Given the description of an element on the screen output the (x, y) to click on. 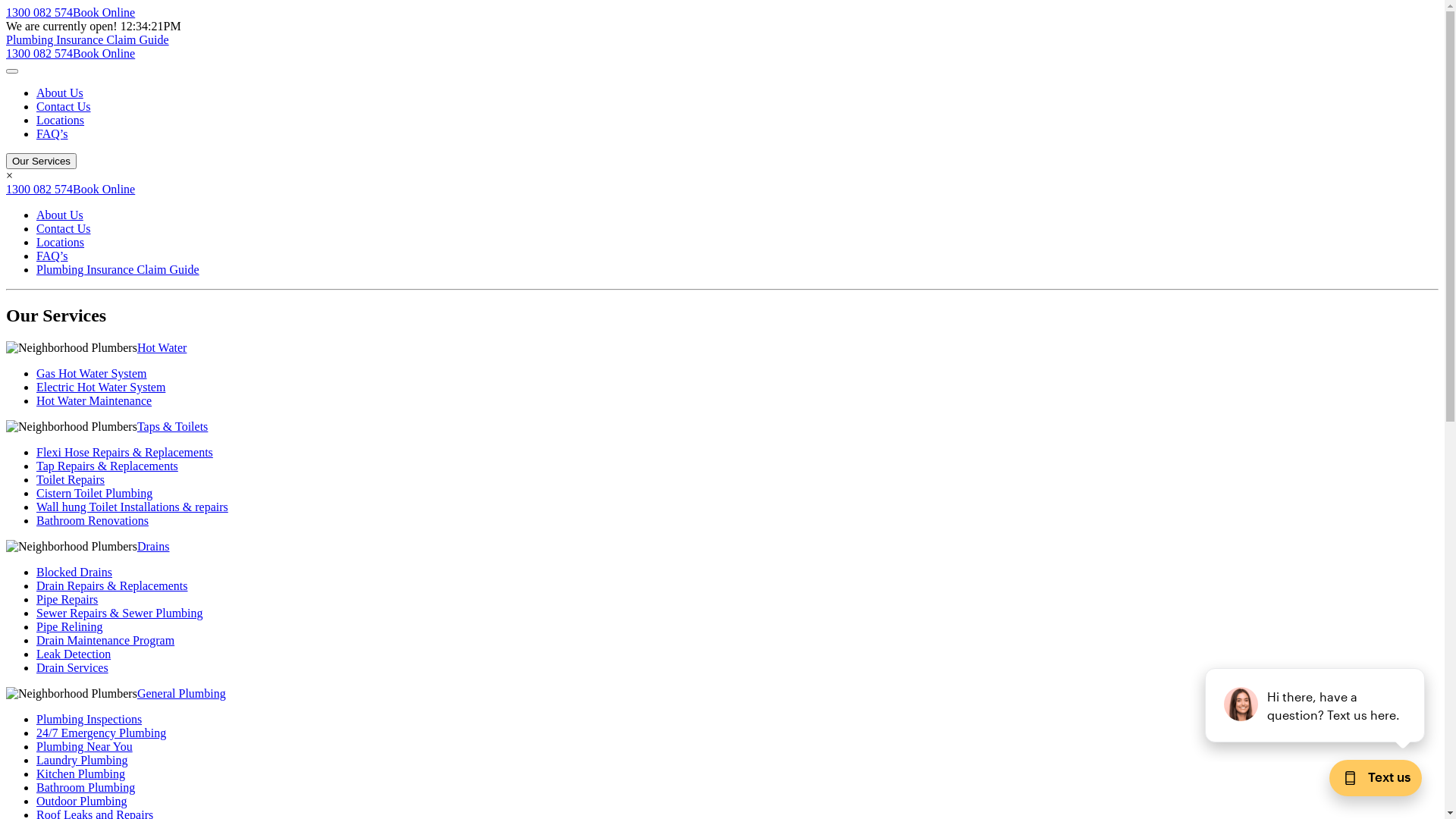
Drain Repairs & Replacements Element type: text (112, 585)
Book Online Element type: text (103, 12)
Drain Maintenance Program Element type: text (105, 639)
Hot Water Maintenance Element type: text (93, 400)
1300 082 574 Element type: text (39, 188)
Contact Us Element type: text (63, 106)
Book Online Element type: text (103, 188)
Plumbing Inspections Element type: text (88, 718)
Book Online Element type: text (103, 53)
Locations Element type: text (60, 241)
Flexi Hose Repairs & Replacements Element type: text (124, 451)
Tap Repairs & Replacements Element type: text (107, 465)
Plumbing Near You Element type: text (84, 746)
Pipe Repairs Element type: text (66, 599)
24/7 Emergency Plumbing Element type: text (101, 732)
podium webchat widget prompt Element type: hover (1315, 705)
Drain Services Element type: text (72, 667)
Gas Hot Water System Element type: text (91, 373)
1300 082 574 Element type: text (39, 12)
Cistern Toilet Plumbing Element type: text (94, 492)
Contact Us Element type: text (63, 228)
About Us Element type: text (59, 214)
Sewer Repairs & Sewer Plumbing Element type: text (119, 612)
Hot Water Element type: text (162, 347)
Bathroom Plumbing Element type: text (85, 787)
Pipe Relining Element type: text (69, 626)
Plumbing Insurance Claim Guide Element type: text (117, 269)
Our Services Element type: text (41, 161)
Wall hung Toilet Installations & repairs Element type: text (132, 506)
1300 082 574 Element type: text (39, 53)
Kitchen Plumbing Element type: text (80, 773)
Leak Detection Element type: text (73, 653)
Plumbing Insurance Claim Guide Element type: text (87, 39)
General Plumbing Element type: text (181, 693)
About Us Element type: text (59, 92)
Drains Element type: text (153, 545)
Blocked Drains Element type: text (74, 571)
Outdoor Plumbing Element type: text (81, 800)
Bathroom Renovations Element type: text (92, 520)
Locations Element type: text (60, 119)
Toilet Repairs Element type: text (70, 479)
Laundry Plumbing Element type: text (81, 759)
Electric Hot Water System Element type: text (100, 386)
Taps & Toilets Element type: text (172, 426)
